Given the description of an element on the screen output the (x, y) to click on. 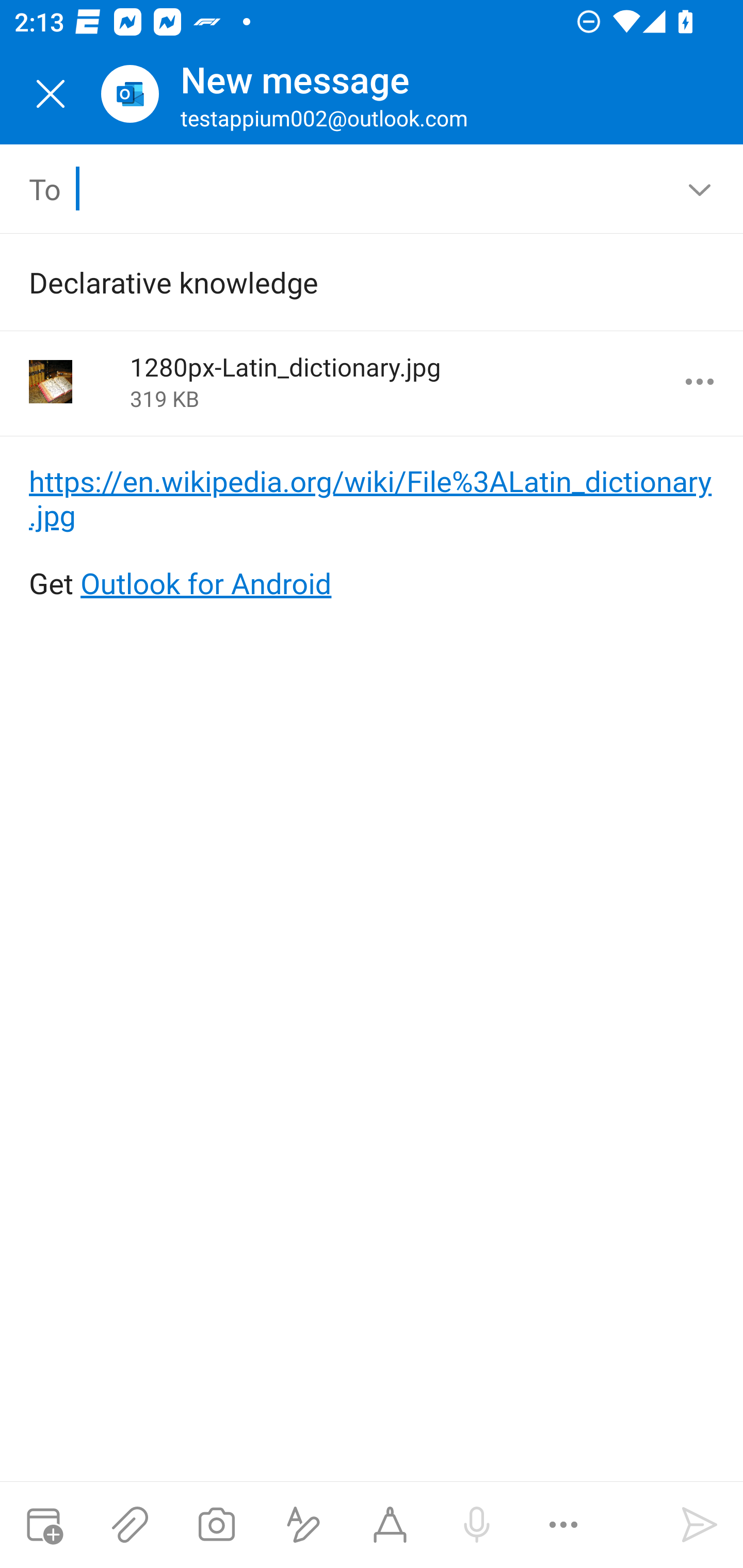
Close (50, 93)
Declarative knowledge (342, 281)
1280px-Latin_dictionary.jpg 319 KB More options (371, 382)
More options (699, 381)
Attach meeting (43, 1524)
Attach files (129, 1524)
Take a photo (216, 1524)
Show formatting options (303, 1524)
Start Ink compose (389, 1524)
More options (563, 1524)
Send (699, 1524)
